Given the description of an element on the screen output the (x, y) to click on. 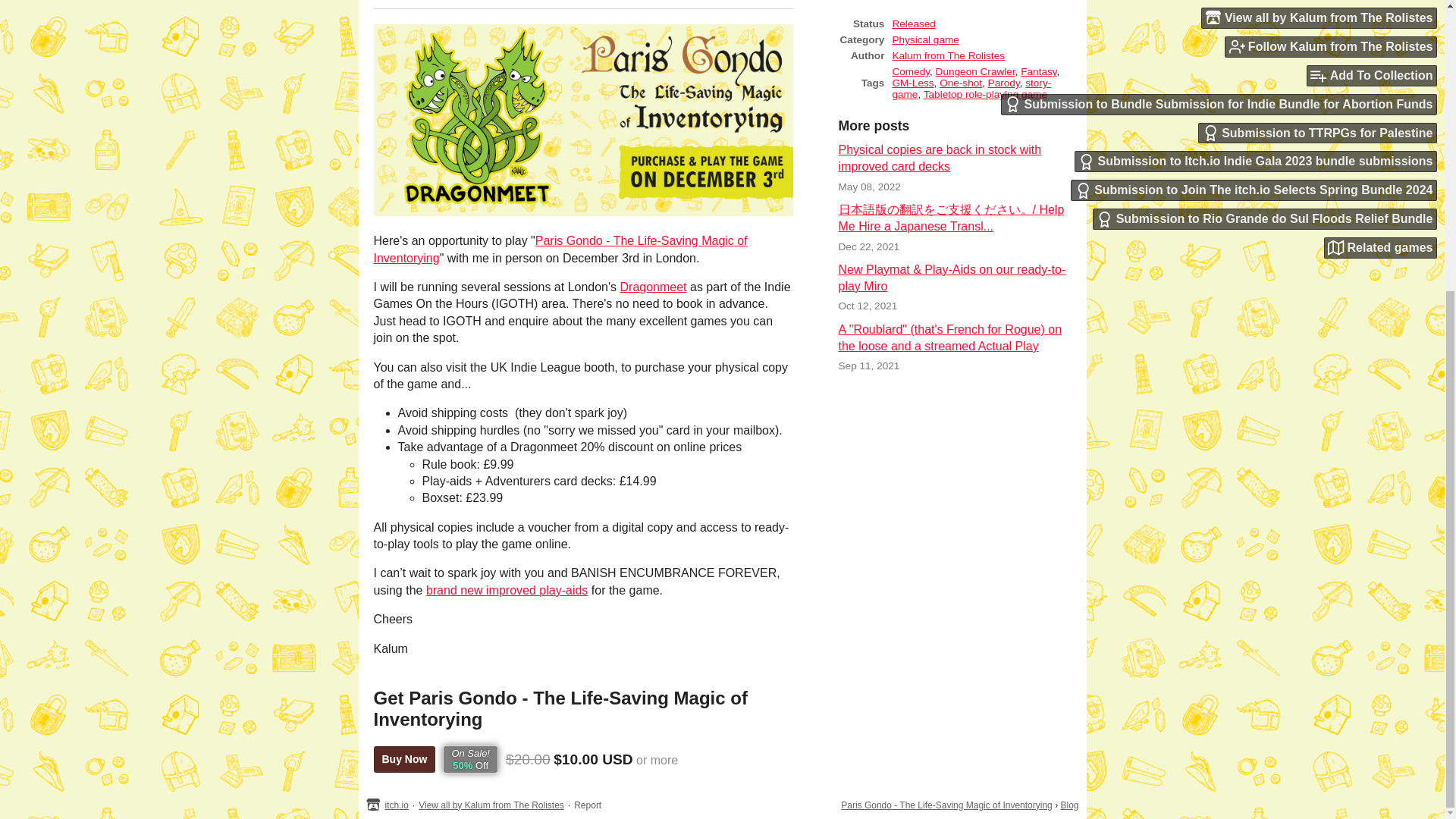
Parody (1004, 82)
GM-Less (912, 82)
brand new improved play-aids (507, 590)
Buy Now (403, 759)
story-game (971, 87)
Kalum from The Rolistes (947, 55)
Tabletop role-playing game (984, 93)
Dragonmeet (653, 286)
One-shot (960, 82)
